Given the description of an element on the screen output the (x, y) to click on. 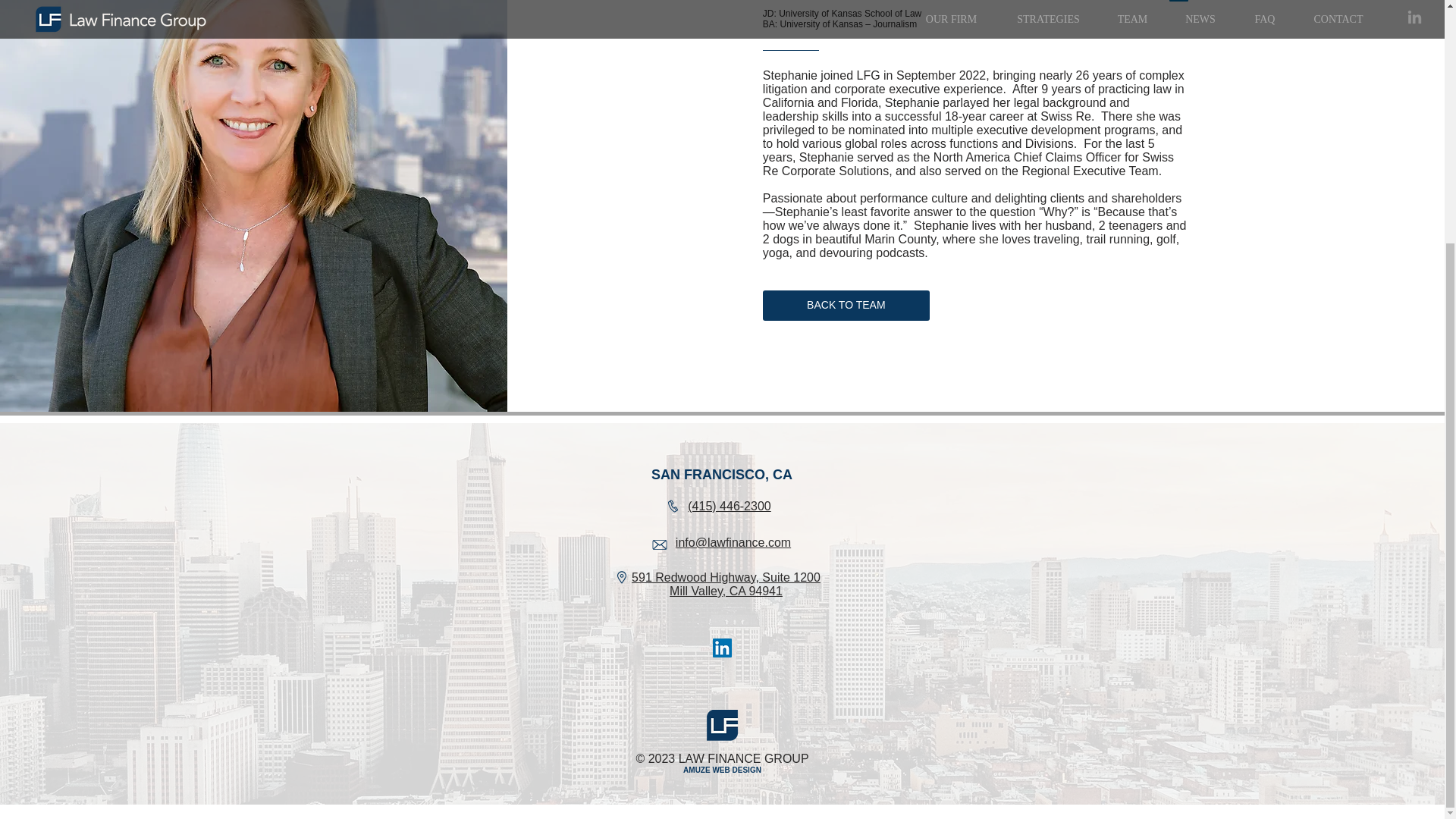
BACK TO TEAM (846, 305)
AMUZE WEB D (710, 769)
591 Redwood Highway, Suite 1200 (726, 576)
SIGN (751, 769)
